Given the description of an element on the screen output the (x, y) to click on. 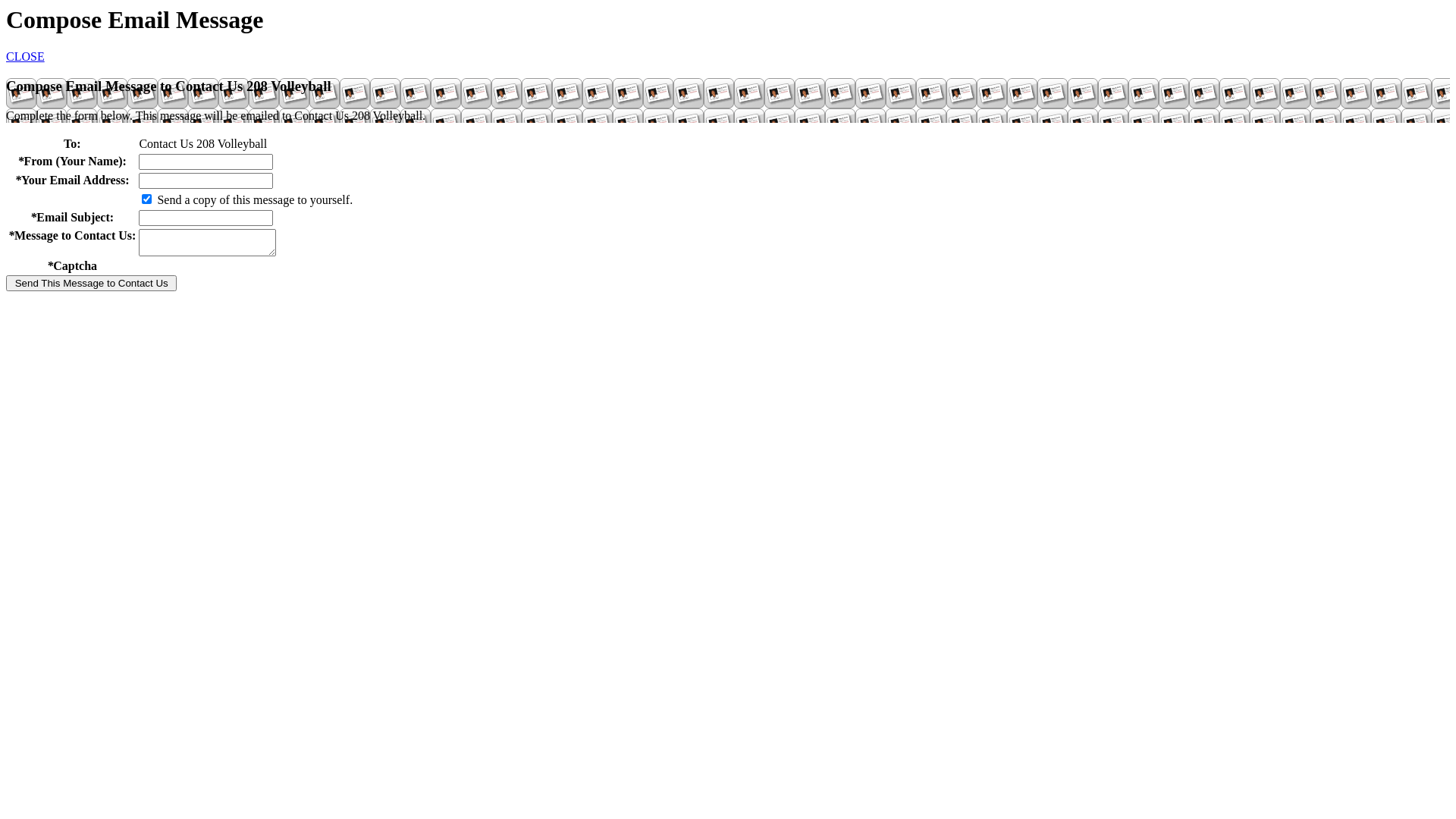
CLOSE Element type: text (25, 56)
 Send This Message to Contact Us  Element type: text (91, 283)
